Given the description of an element on the screen output the (x, y) to click on. 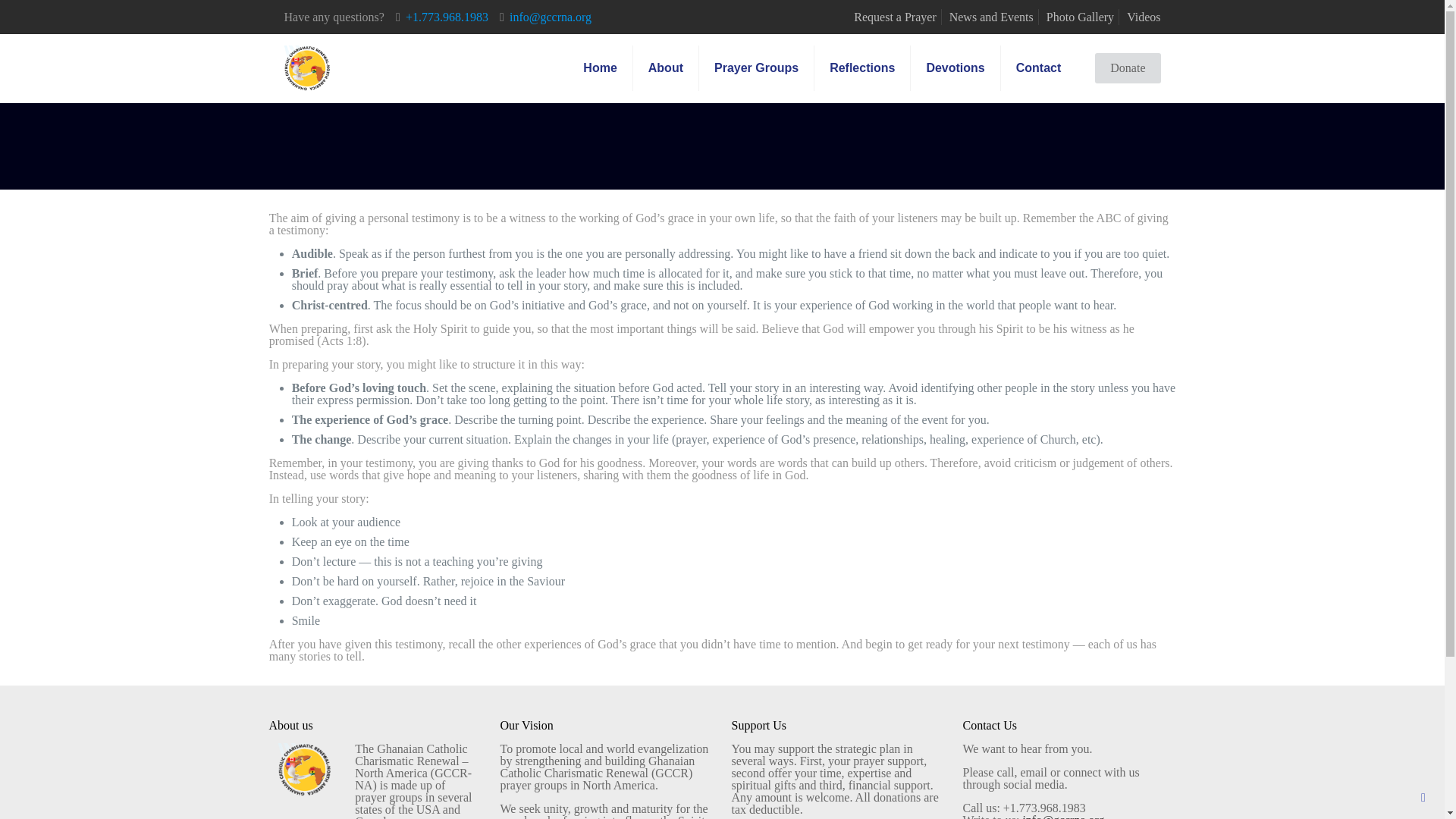
Donate (1127, 67)
Photo Gallery (1079, 16)
About (665, 68)
Request a Prayer (894, 16)
Contact (1039, 68)
News and Events (991, 16)
Prayer Groups (755, 68)
Reflections (862, 68)
Home (599, 68)
Videos (1143, 16)
